Given the description of an element on the screen output the (x, y) to click on. 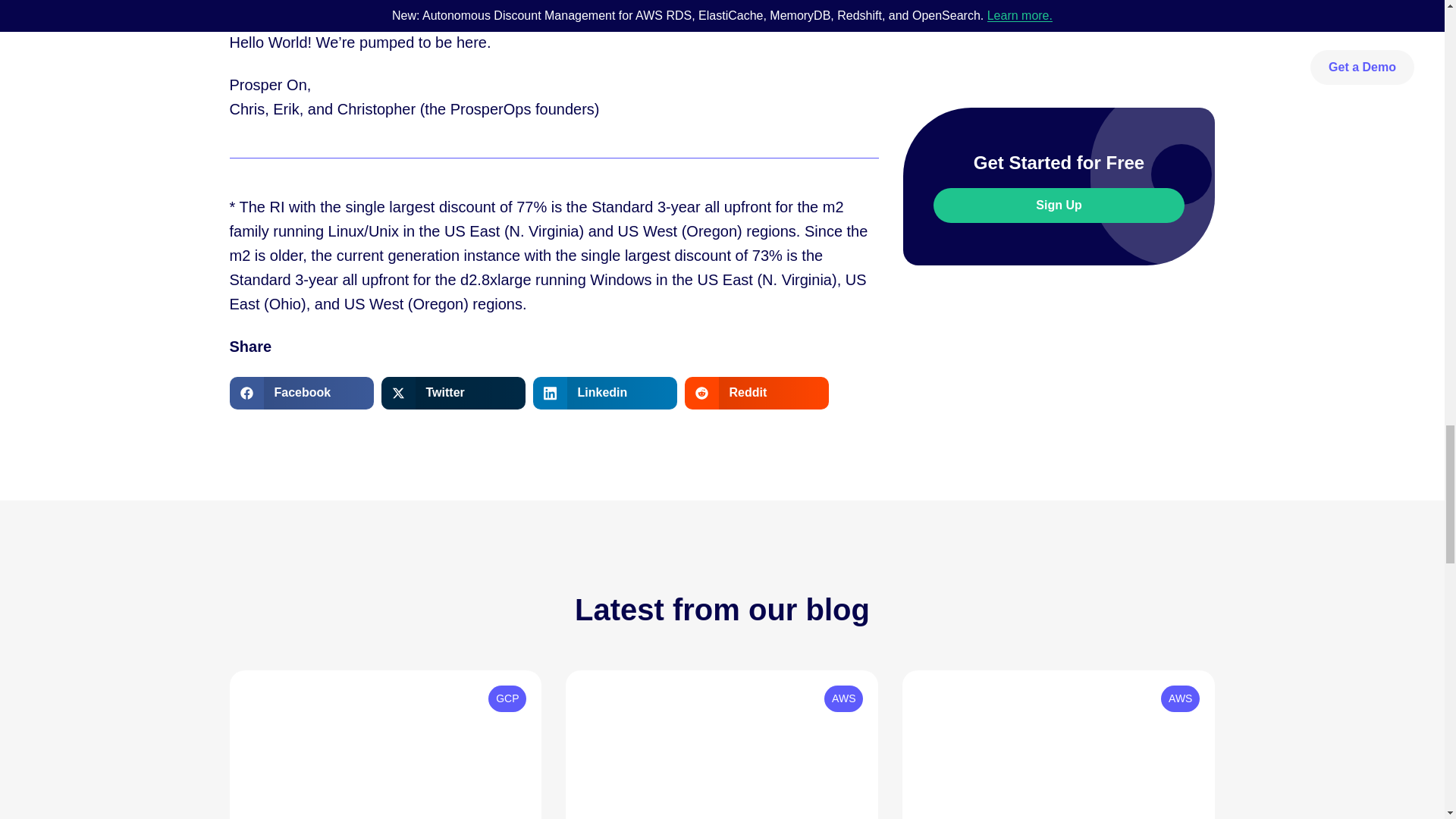
Twitter (452, 392)
Linkedin (604, 392)
Reddit (756, 392)
Facebook (300, 392)
